Given the description of an element on the screen output the (x, y) to click on. 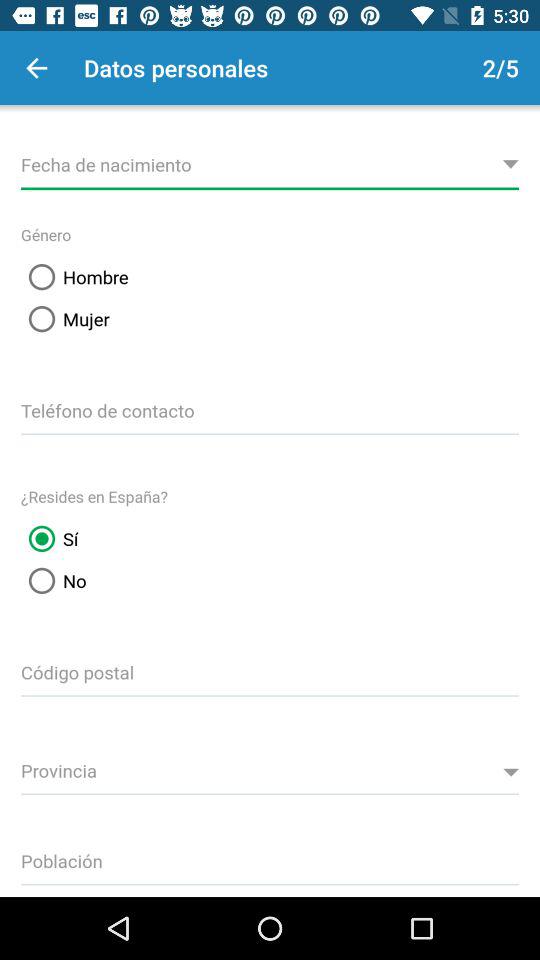
enter your phone number (270, 408)
